Given the description of an element on the screen output the (x, y) to click on. 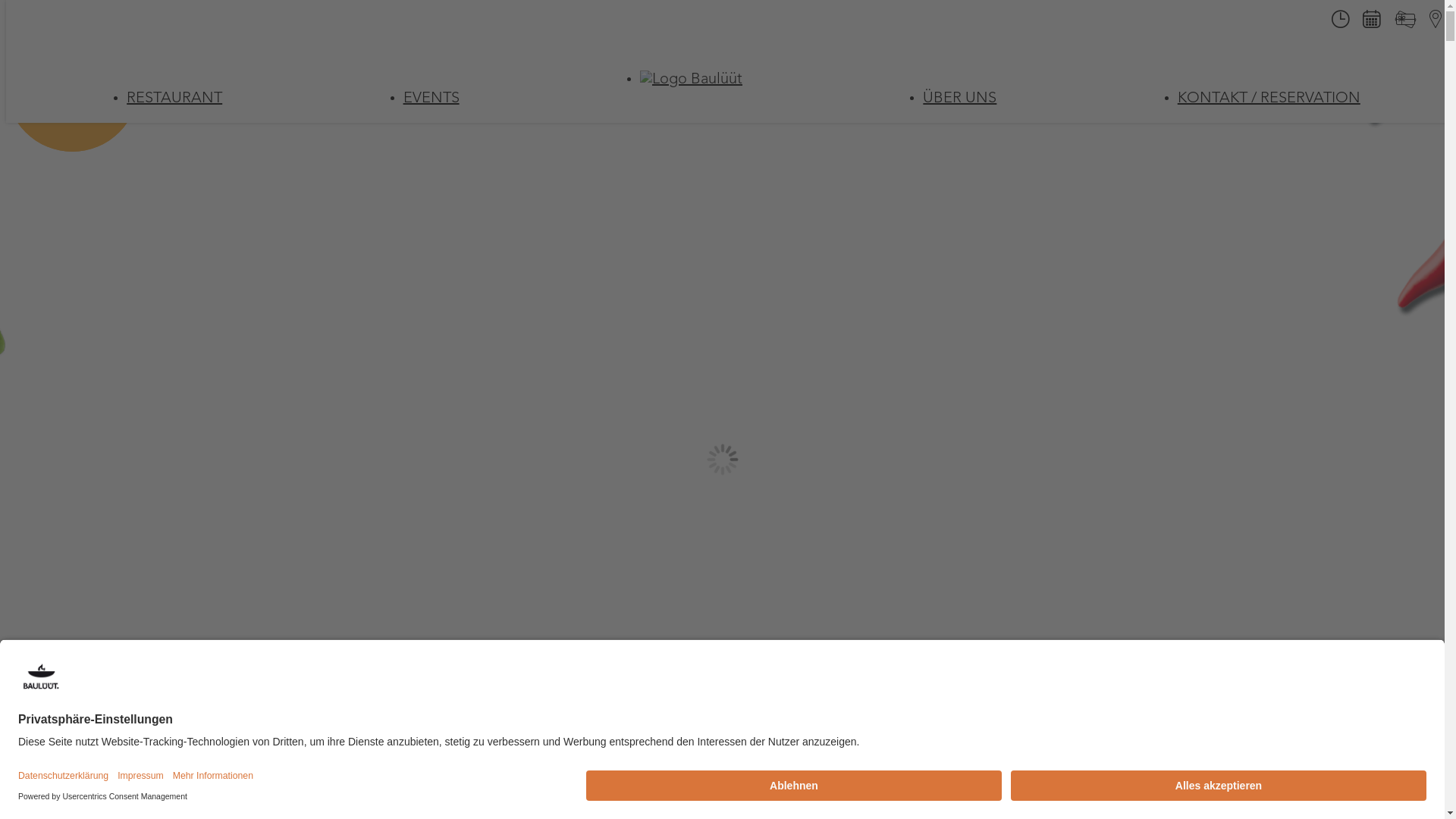
KONTAKT / RESERVATION Element type: text (1268, 98)
Events Element type: hover (1370, 22)
GUTSCHEIN BESTELLEN! Element type: text (72, 84)
RESTAURANT Element type: text (174, 98)
Standort Element type: hover (1435, 22)
EVENTS Element type: text (431, 98)
Gutschein Element type: hover (1404, 24)
